Given the description of an element on the screen output the (x, y) to click on. 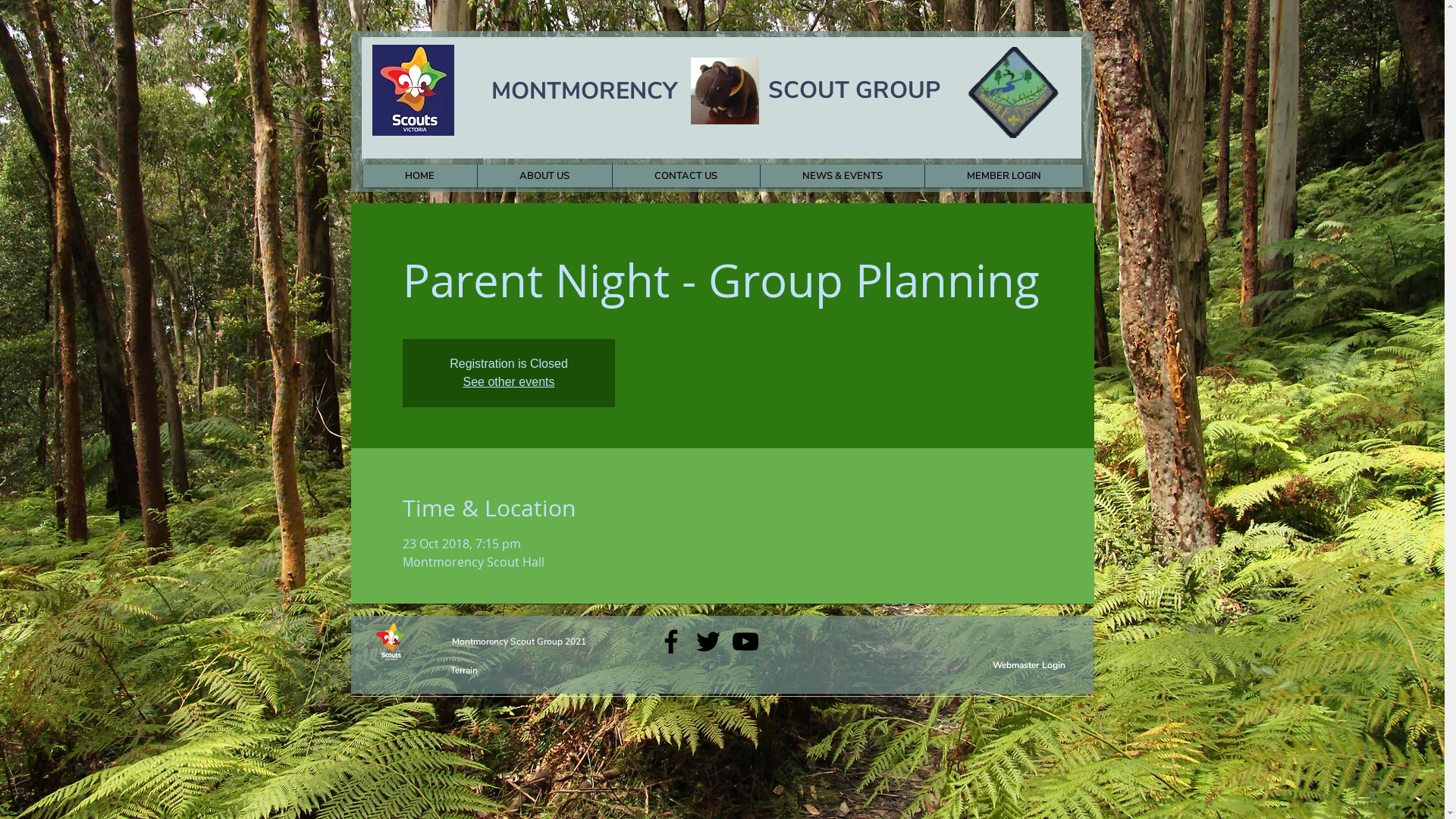
Webmaster Login Element type: text (1027, 664)
HOME Element type: text (419, 175)
CONTACT US Element type: text (685, 175)
MEMBER LOGIN Element type: text (1002, 175)
Banyule District  Element type: hover (1012, 92)
Scouts Australia Element type: hover (390, 641)
Monty the Wombat Element type: hover (724, 90)
ABOUT US Element type: text (543, 175)
NEWS & EVENTS Element type: text (841, 175)
See other events Element type: text (509, 381)
Terrain  Element type: text (465, 670)
